Given the description of an element on the screen output the (x, y) to click on. 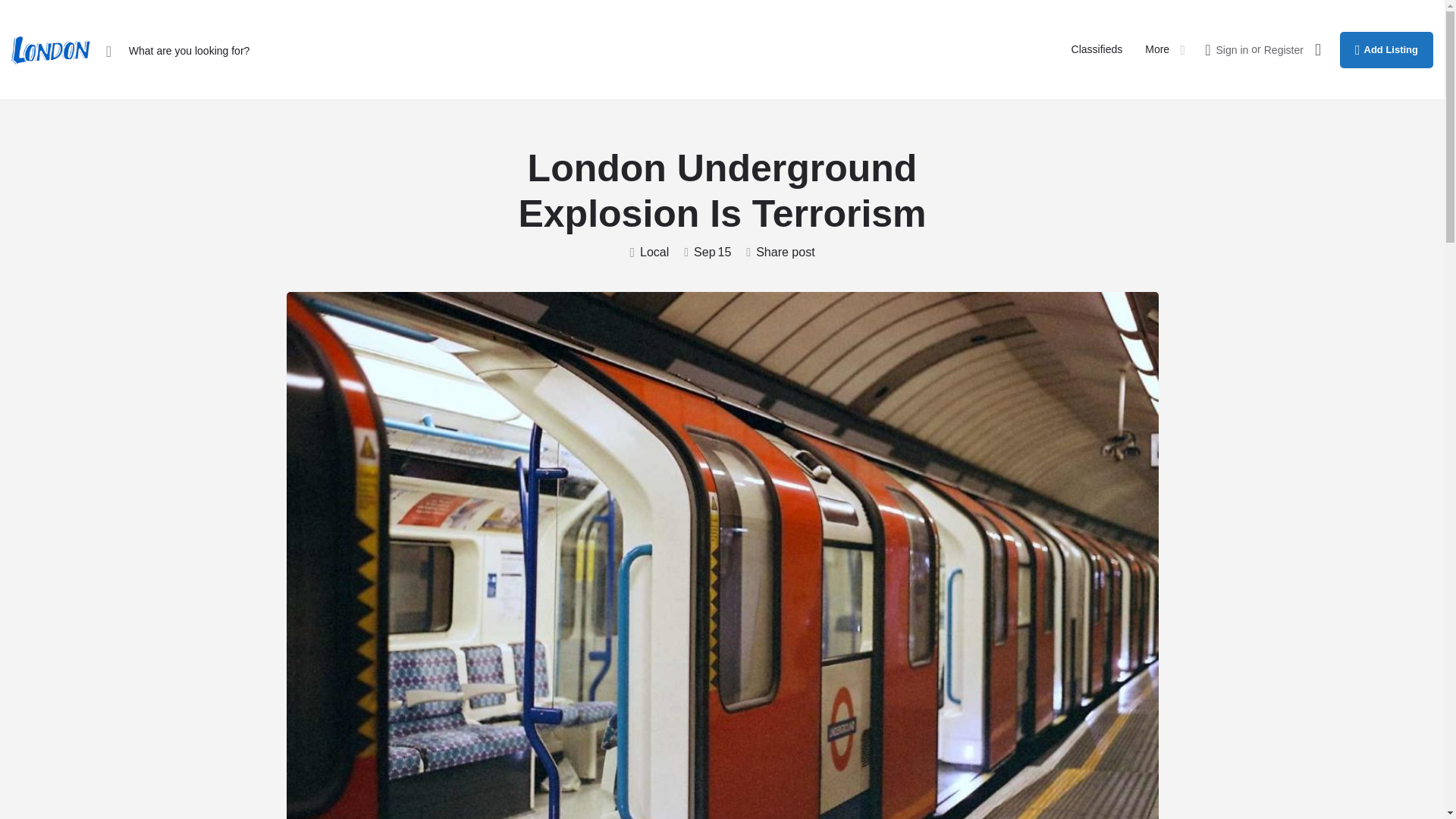
Classifieds (1096, 49)
Add Listing (1385, 49)
More (1156, 49)
Sign in (1231, 49)
Register (1283, 49)
Local (648, 252)
Share post (779, 252)
